Given the description of an element on the screen output the (x, y) to click on. 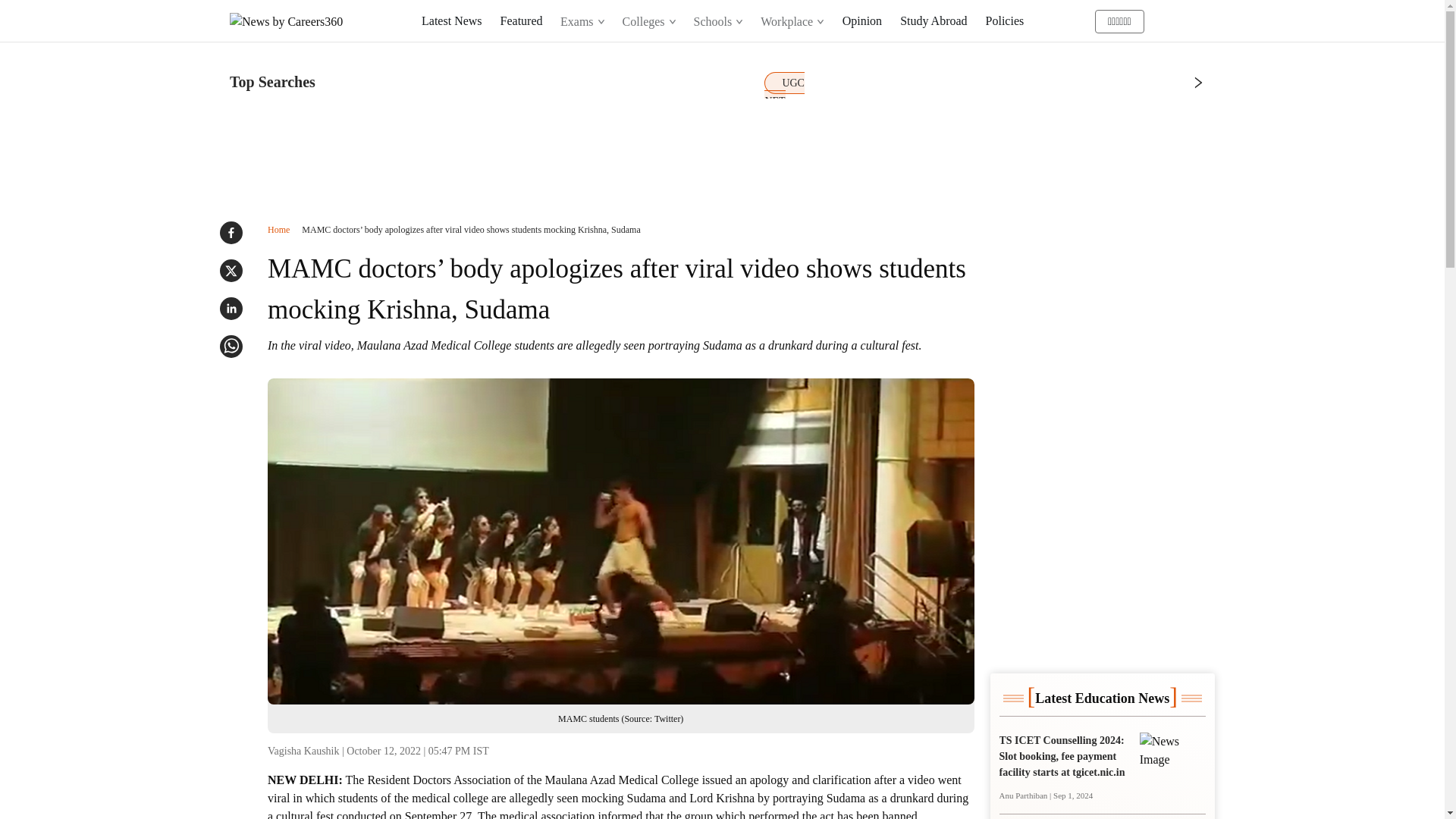
Schools (718, 20)
Colleges (650, 21)
Colleges (648, 20)
Study Abroad (932, 20)
Workplace (792, 21)
Policies (1005, 20)
Latest News (451, 20)
Exams (582, 21)
Exams (582, 20)
Featured (521, 20)
